Given the description of an element on the screen output the (x, y) to click on. 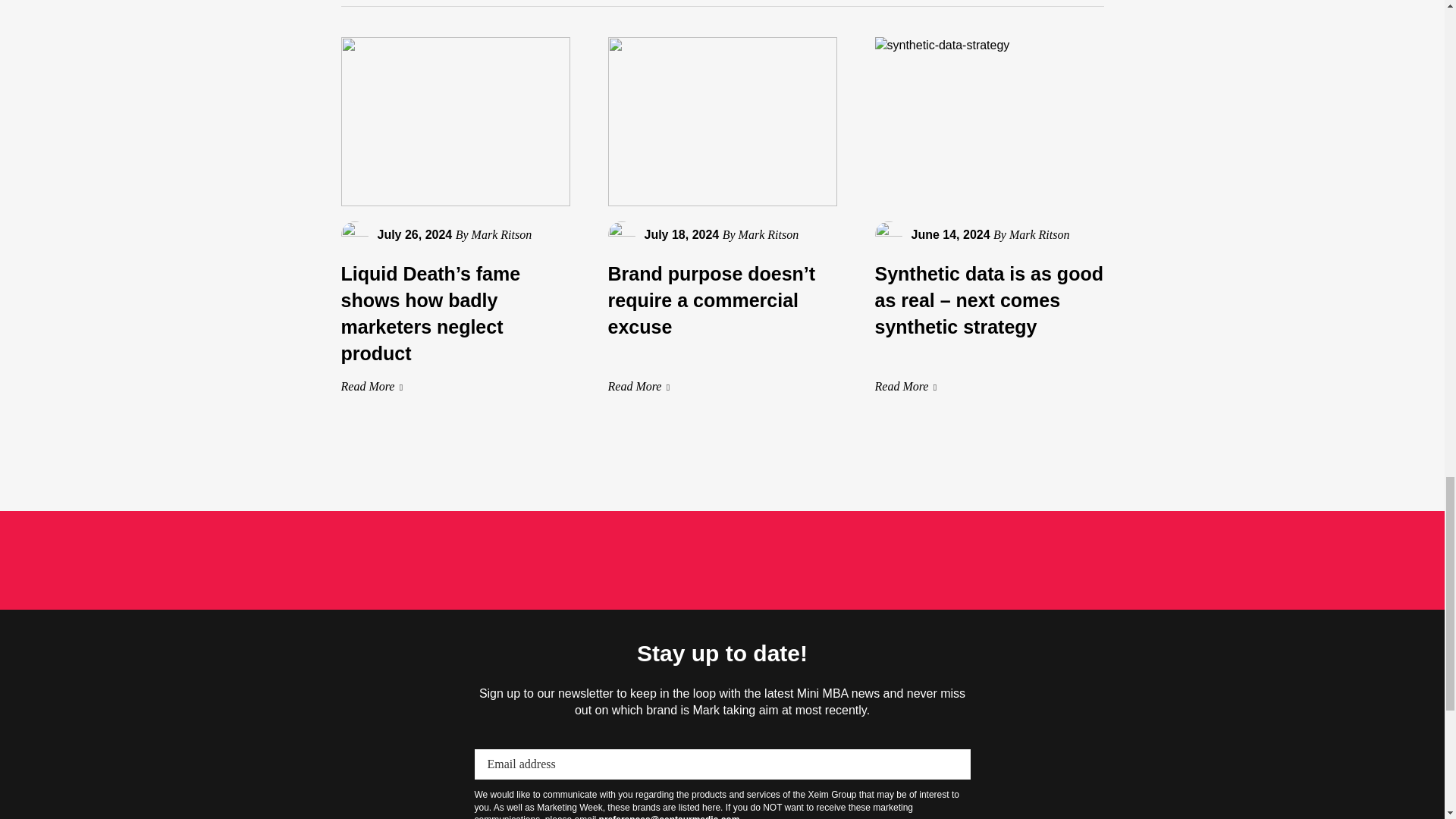
Posts by Mark Ritson (1039, 234)
Posts by Mark Ritson (768, 234)
Posts by Mark Ritson (501, 234)
